Given the description of an element on the screen output the (x, y) to click on. 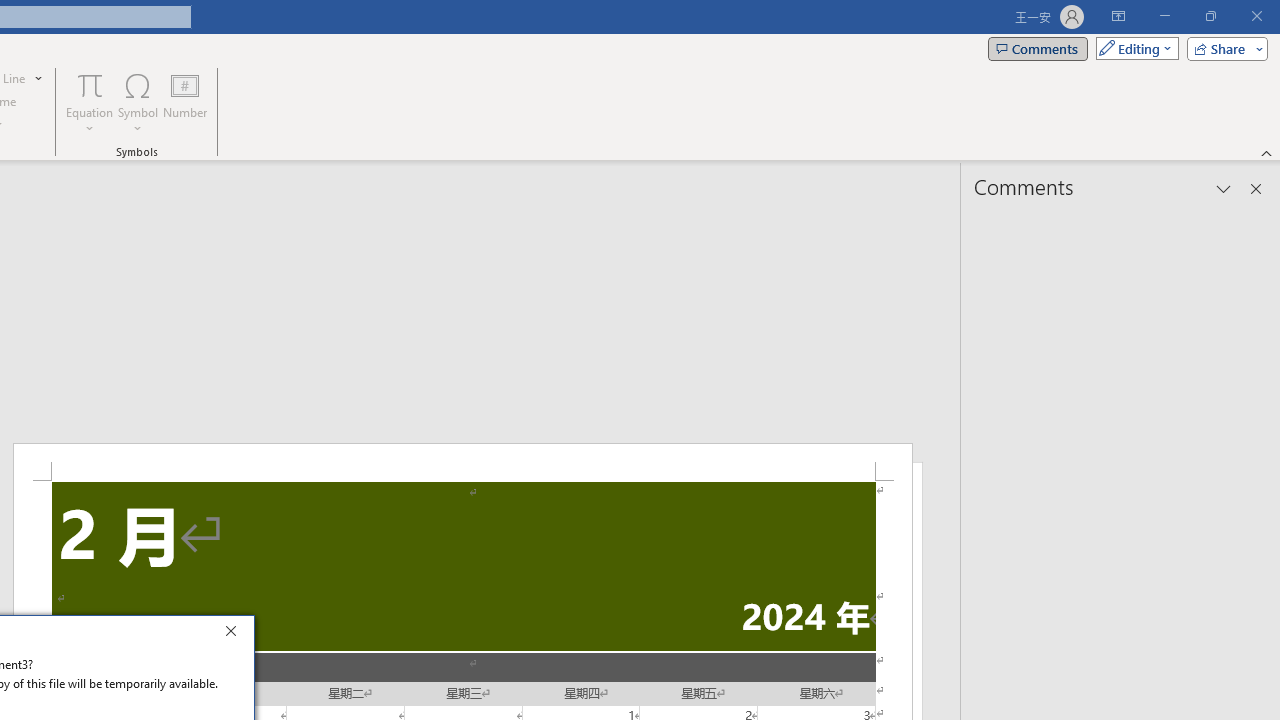
Equation (90, 102)
Number... (185, 102)
Header -Section 2- (462, 461)
Symbol (138, 102)
Equation (90, 84)
